Given the description of an element on the screen output the (x, y) to click on. 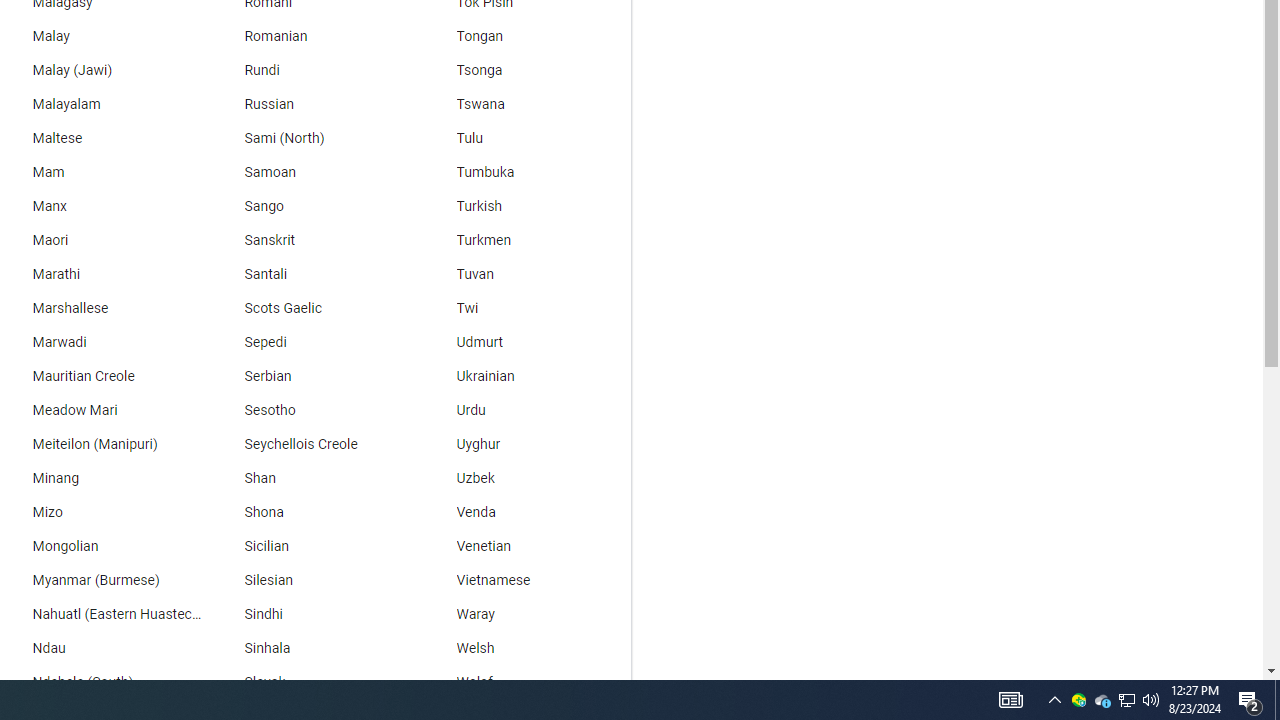
Shona (312, 512)
Tsonga (525, 70)
Waray (525, 614)
Tuvan (525, 274)
Serbian (312, 376)
Rundi (312, 70)
Vietnamese (525, 580)
Romanian (312, 36)
Sepedi (312, 342)
Sindhi (312, 614)
Tulu (525, 138)
Slovak (312, 682)
Santali (312, 274)
Tongan (525, 36)
Uyghur (525, 444)
